Given the description of an element on the screen output the (x, y) to click on. 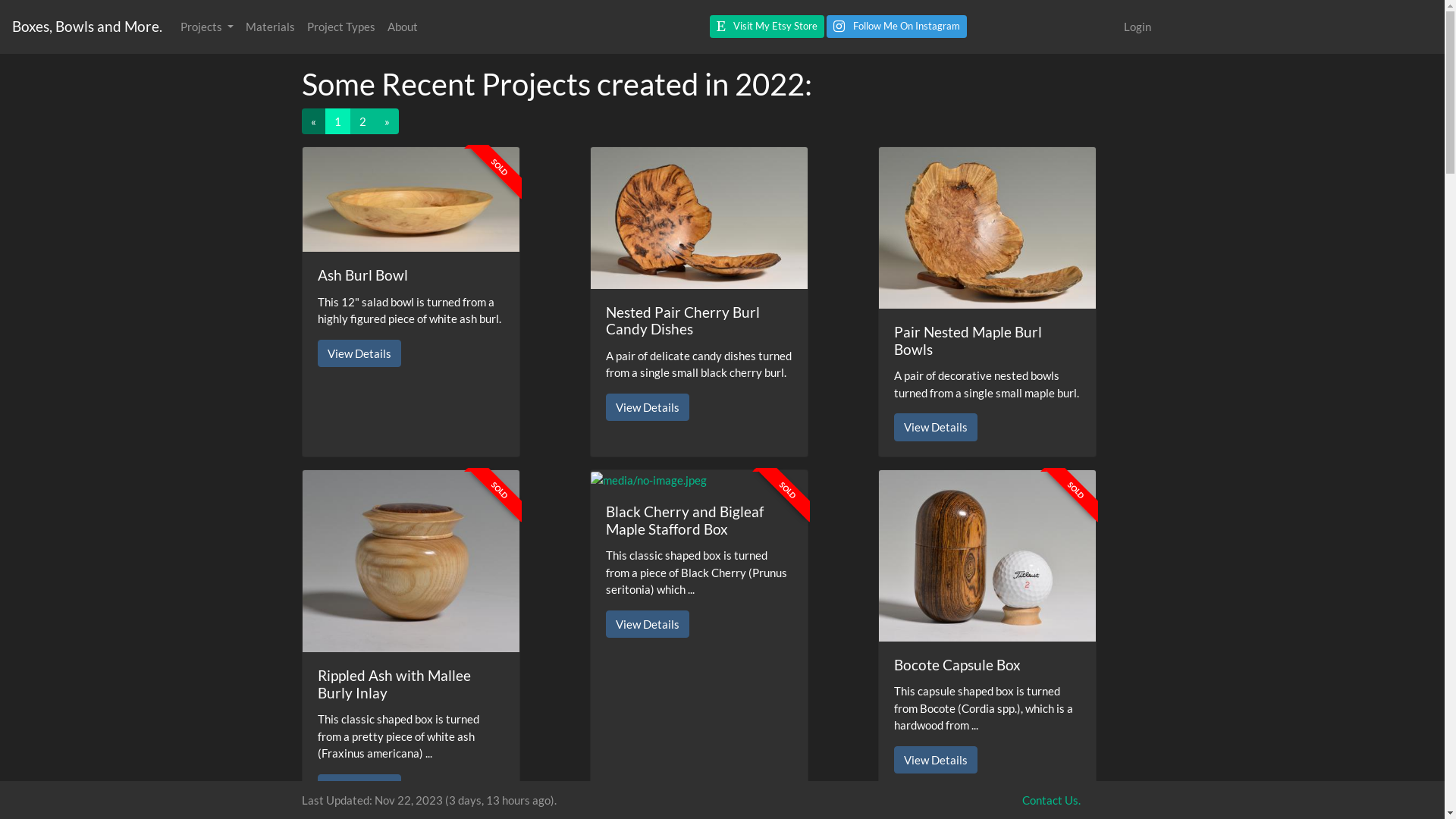
View Details Element type: text (934, 427)
Visit My Etsy Store Element type: text (766, 26)
2 Element type: text (362, 120)
View Details Element type: text (934, 760)
1 Element type: text (336, 120)
Contact Us. Element type: text (1051, 799)
About Element type: text (402, 26)
Projects Element type: text (206, 26)
Project Types Element type: text (341, 26)
Materials Element type: text (270, 26)
Follow Me On Instagram Element type: text (896, 26)
View Details Element type: text (358, 788)
Boxes, Bowls and More. Element type: text (87, 26)
View Details Element type: text (646, 624)
View Details Element type: text (646, 407)
View Details Element type: text (358, 353)
Login Element type: text (1137, 26)
